Given the description of an element on the screen output the (x, y) to click on. 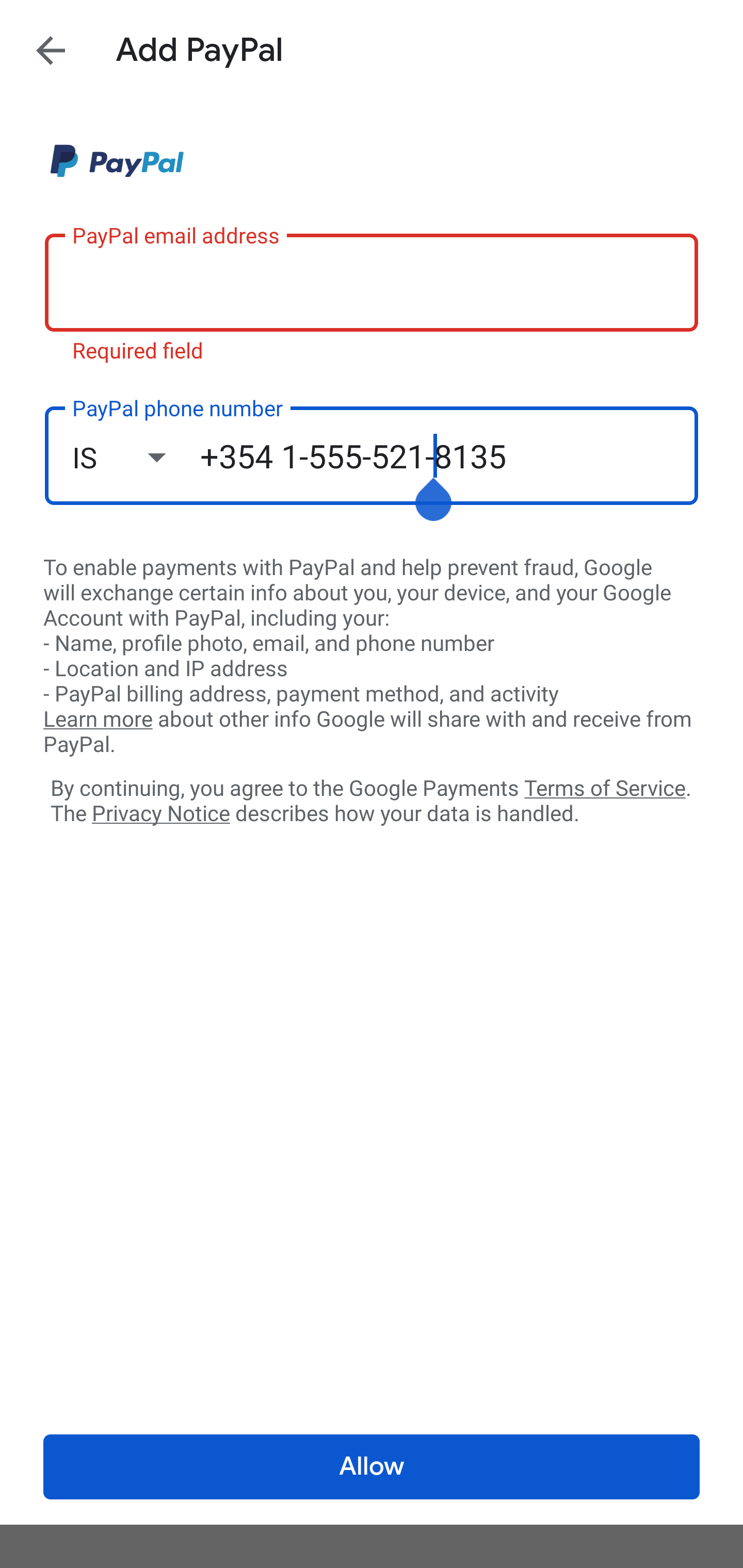
Navigate up (50, 50)
IS (135, 456)
Learn more (97, 719)
Terms of Service (604, 787)
Privacy Notice (160, 814)
Allow (371, 1466)
